Given the description of an element on the screen output the (x, y) to click on. 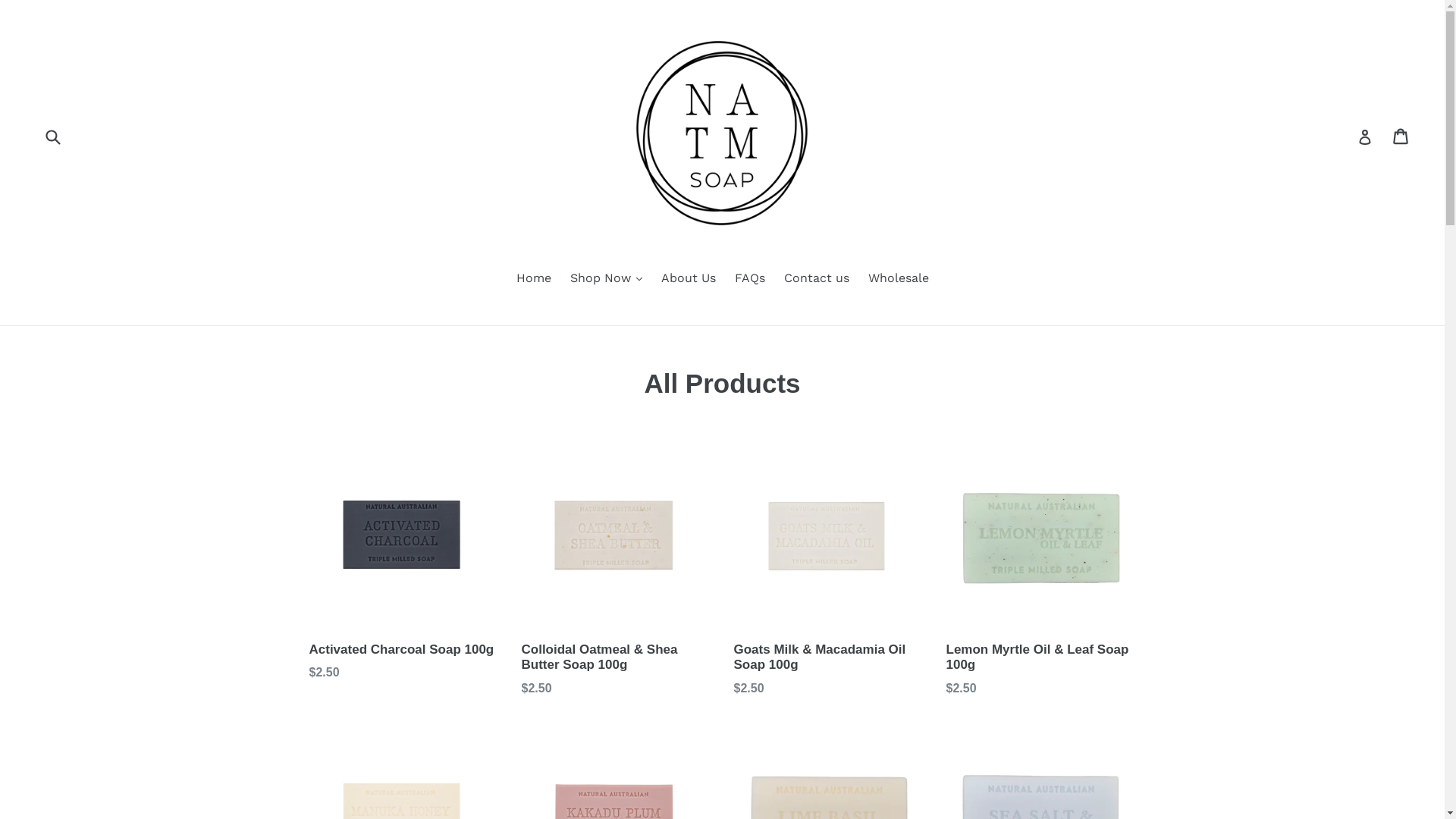
Submit Element type: text (51, 135)
Home Element type: text (533, 279)
Contact us Element type: text (816, 279)
Log in Element type: text (1364, 136)
Activated Charcoal Soap 100g
Regular price
$2.50 Element type: text (403, 561)
Goats Milk & Macadamia Oil Soap 100g
Regular price
$2.50 Element type: text (828, 569)
Wholesale Element type: text (897, 279)
Cart
Cart Element type: text (1401, 136)
About Us Element type: text (688, 279)
FAQs Element type: text (748, 279)
Lemon Myrtle Oil & Leaf Soap 100g
Regular price
$2.50 Element type: text (1040, 569)
